Given the description of an element on the screen output the (x, y) to click on. 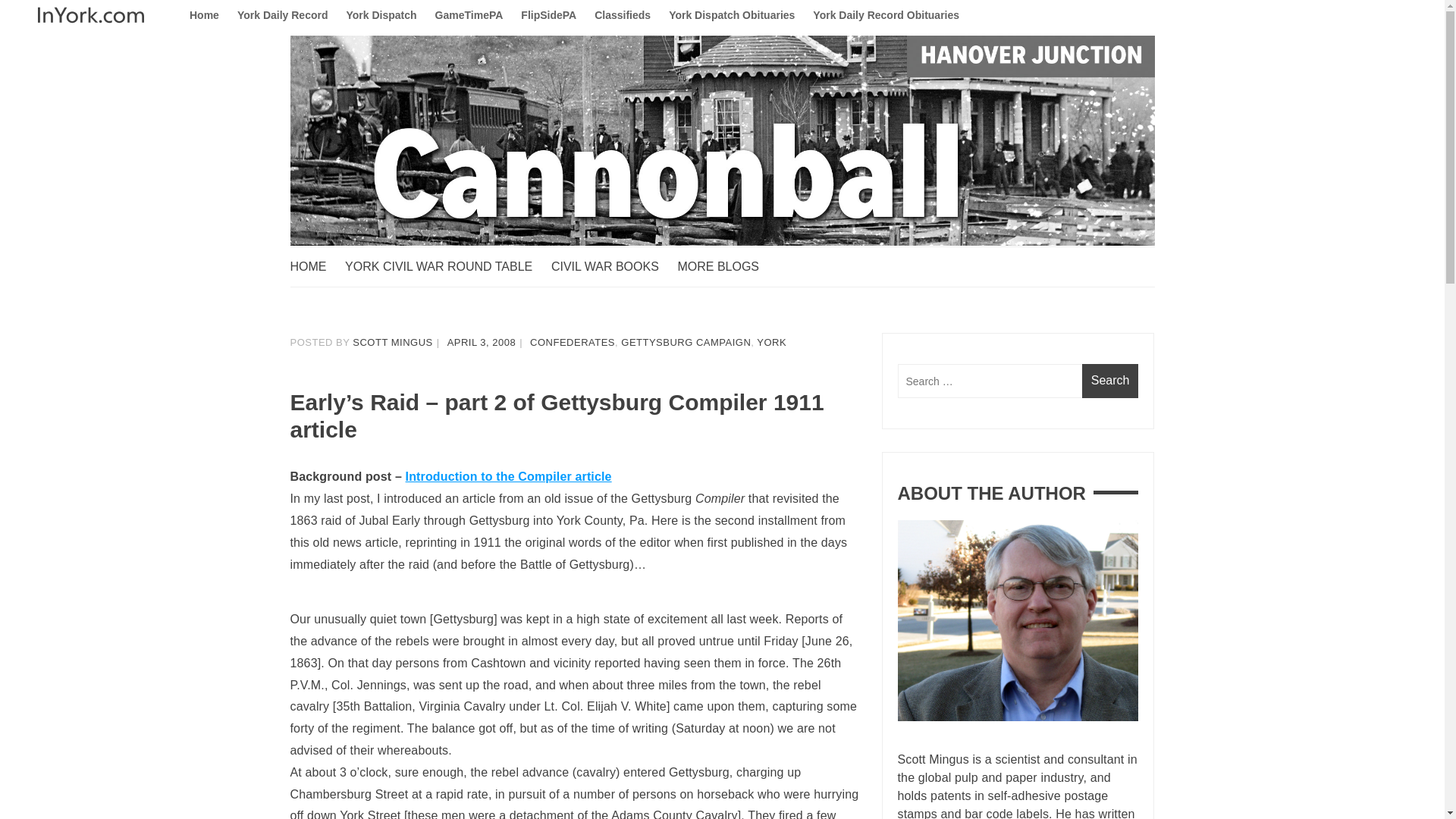
Introduction to the Compiler article (508, 476)
APRIL 3, 2008 (481, 342)
YORK (771, 342)
GETTYSBURG CAMPAIGN (686, 342)
Search (1109, 380)
Cannonball (355, 275)
CONFEDERATES (571, 342)
SCOTT MINGUS (392, 342)
MORE BLOGS (725, 266)
Search (1109, 380)
